Given the description of an element on the screen output the (x, y) to click on. 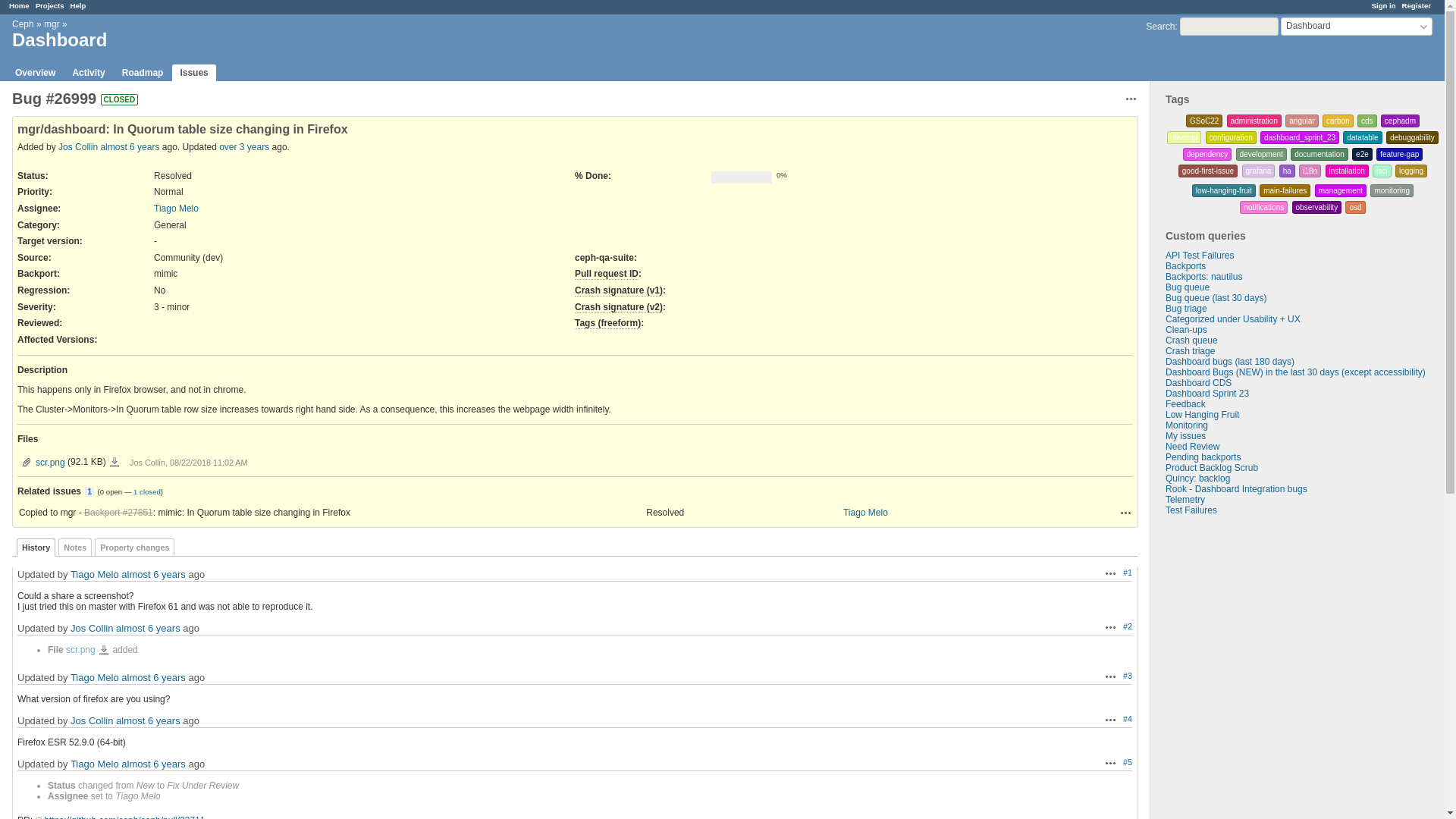
Actions (1110, 626)
Sign in (1383, 5)
Ceph (22, 23)
ha (1286, 171)
isci (1381, 171)
Actions (1110, 676)
Activity (88, 72)
cephadm (1399, 121)
Register (1416, 5)
Actions (1131, 98)
